Given the description of an element on the screen output the (x, y) to click on. 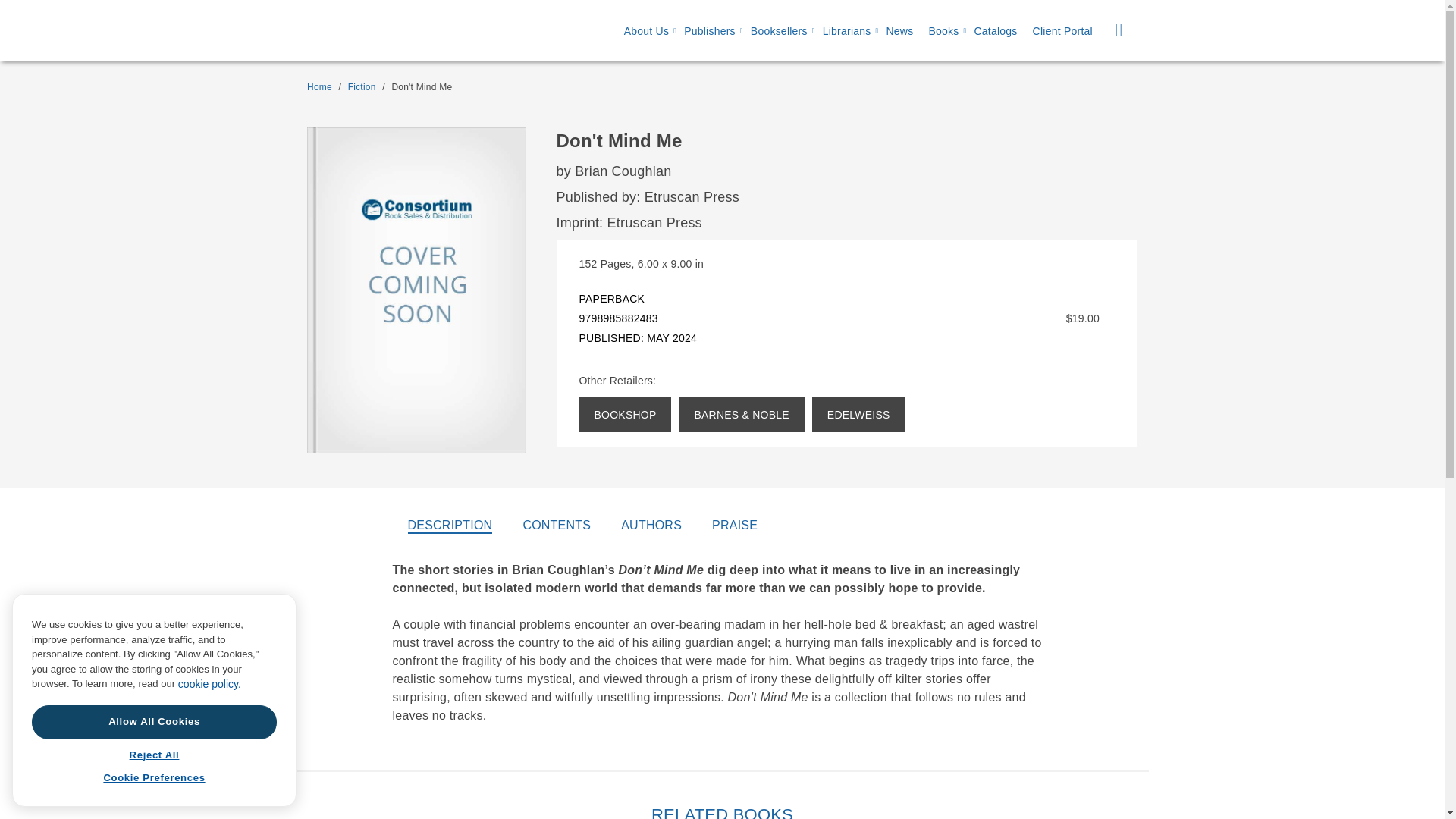
Books (943, 30)
Catalogs (995, 30)
Client Portal (1062, 30)
Back to homepage (319, 86)
Librarians (846, 30)
Bookshop (625, 414)
Publishers (709, 30)
News (898, 30)
Edelweiss (858, 414)
Booksellers (779, 30)
